Given the description of an element on the screen output the (x, y) to click on. 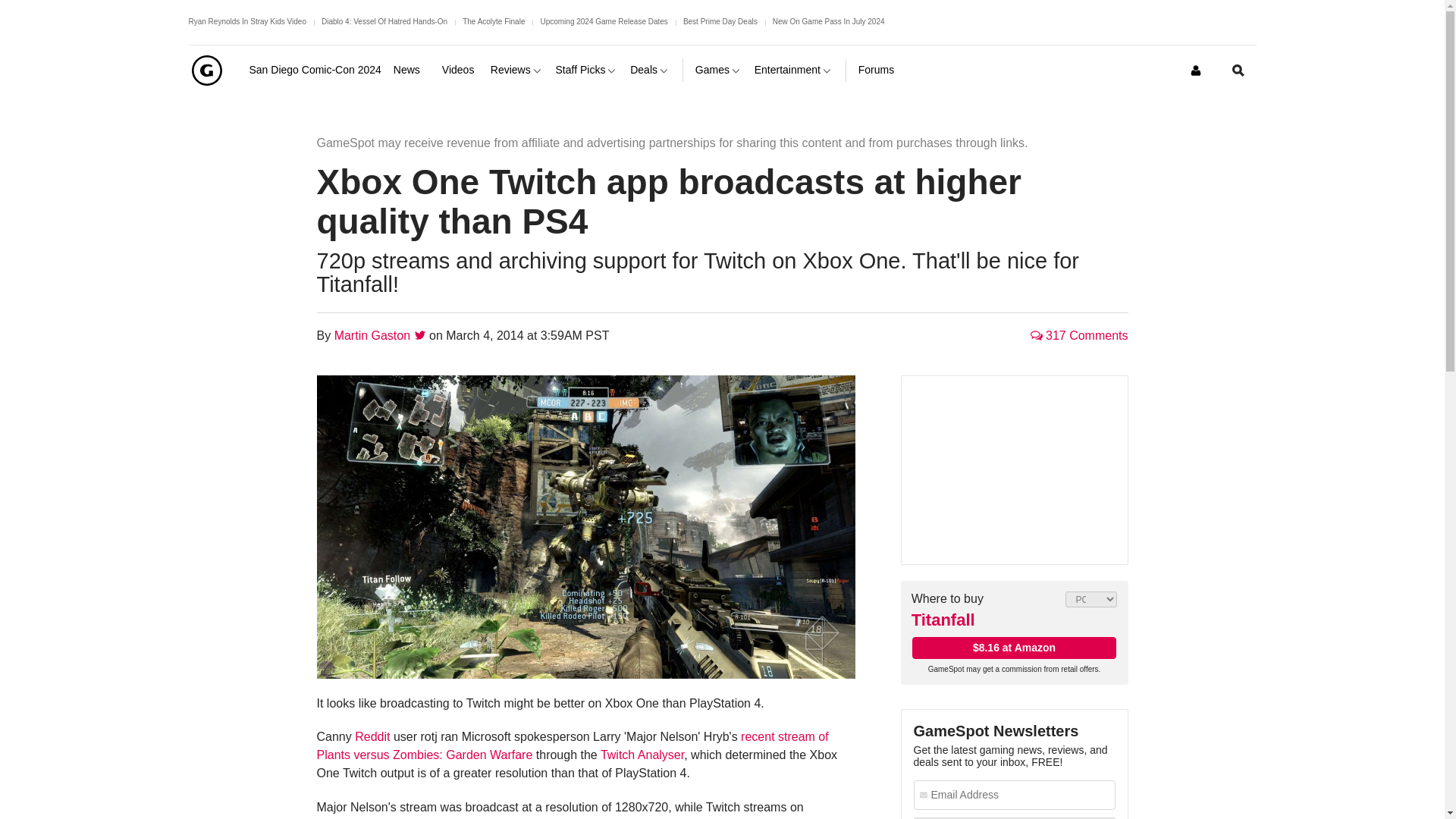
News (411, 70)
Diablo 4: Vessel Of Hatred Hands-On (383, 21)
Upcoming 2024 Game Release Dates (603, 21)
New On Game Pass In July 2024 (829, 21)
The Acolyte Finale (493, 21)
Staff Picks (587, 70)
Reviews (516, 70)
Ryan Reynolds In Stray Kids Video (246, 21)
Deals (649, 70)
Videos (460, 70)
Best Prime Day Deals (719, 21)
Games (718, 70)
San Diego Comic-Con 2024 (314, 70)
GameSpot (205, 70)
